Given the description of an element on the screen output the (x, y) to click on. 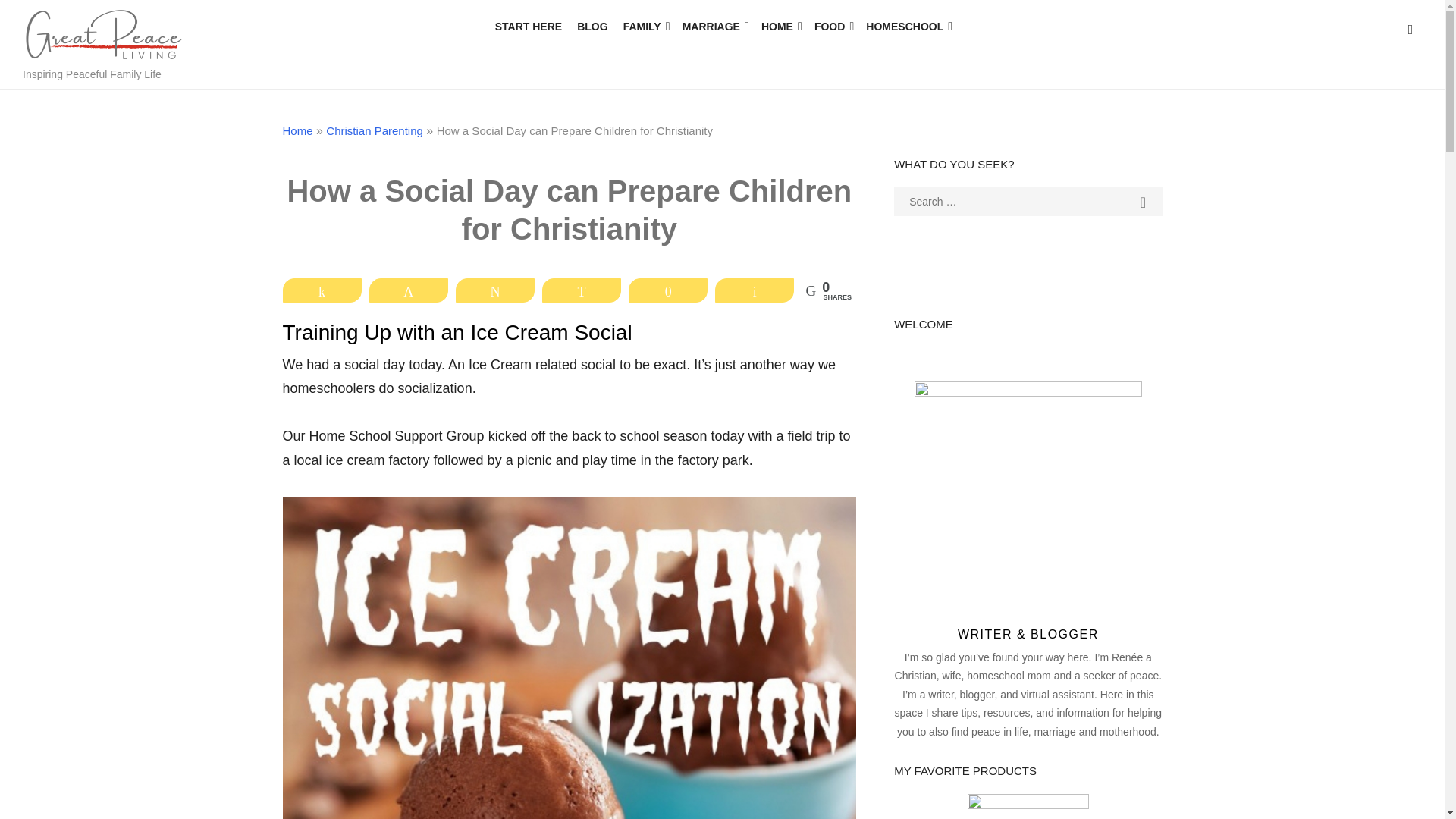
START HERE (528, 26)
